Given the description of an element on the screen output the (x, y) to click on. 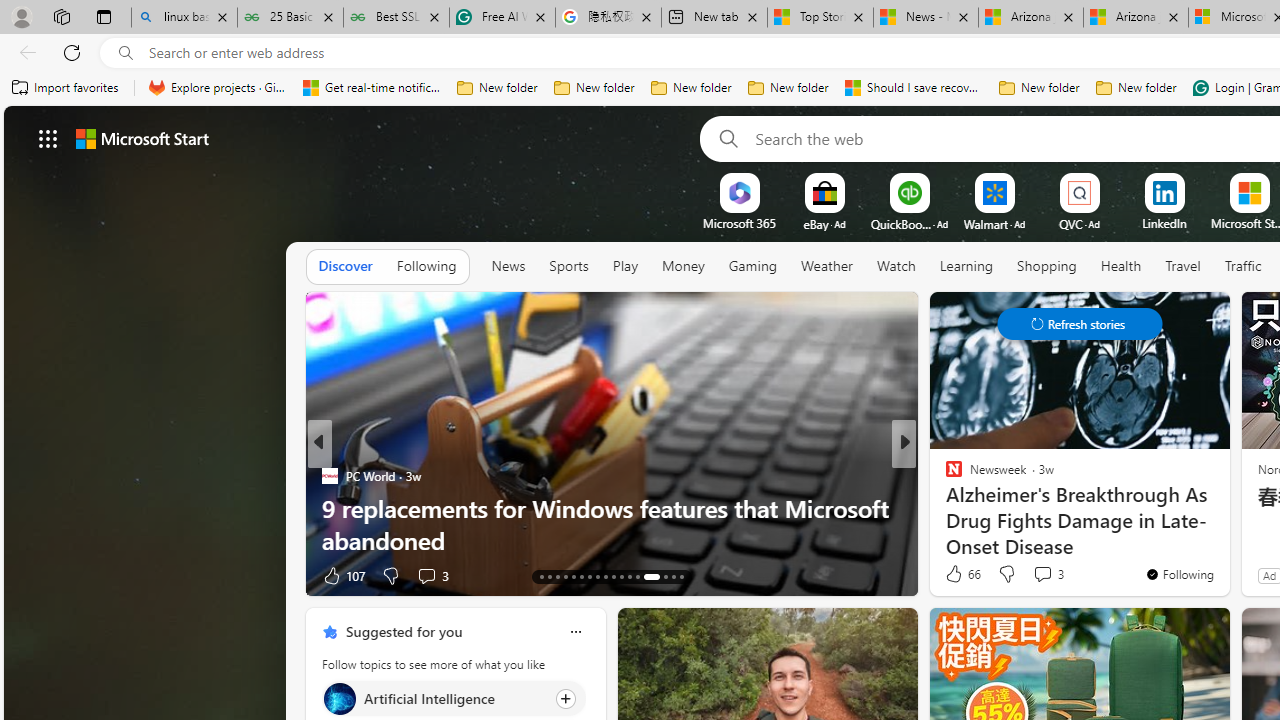
Gaming (752, 265)
AutomationID: tab-16 (564, 576)
AutomationID: tab-18 (581, 576)
AutomationID: tab-20 (596, 576)
55 Like (956, 574)
Class: control (1079, 323)
View comments 16 Comment (1051, 574)
Top Stories - MSN (820, 17)
Free AI Writing Assistance for Students | Grammarly (502, 17)
